Given the description of an element on the screen output the (x, y) to click on. 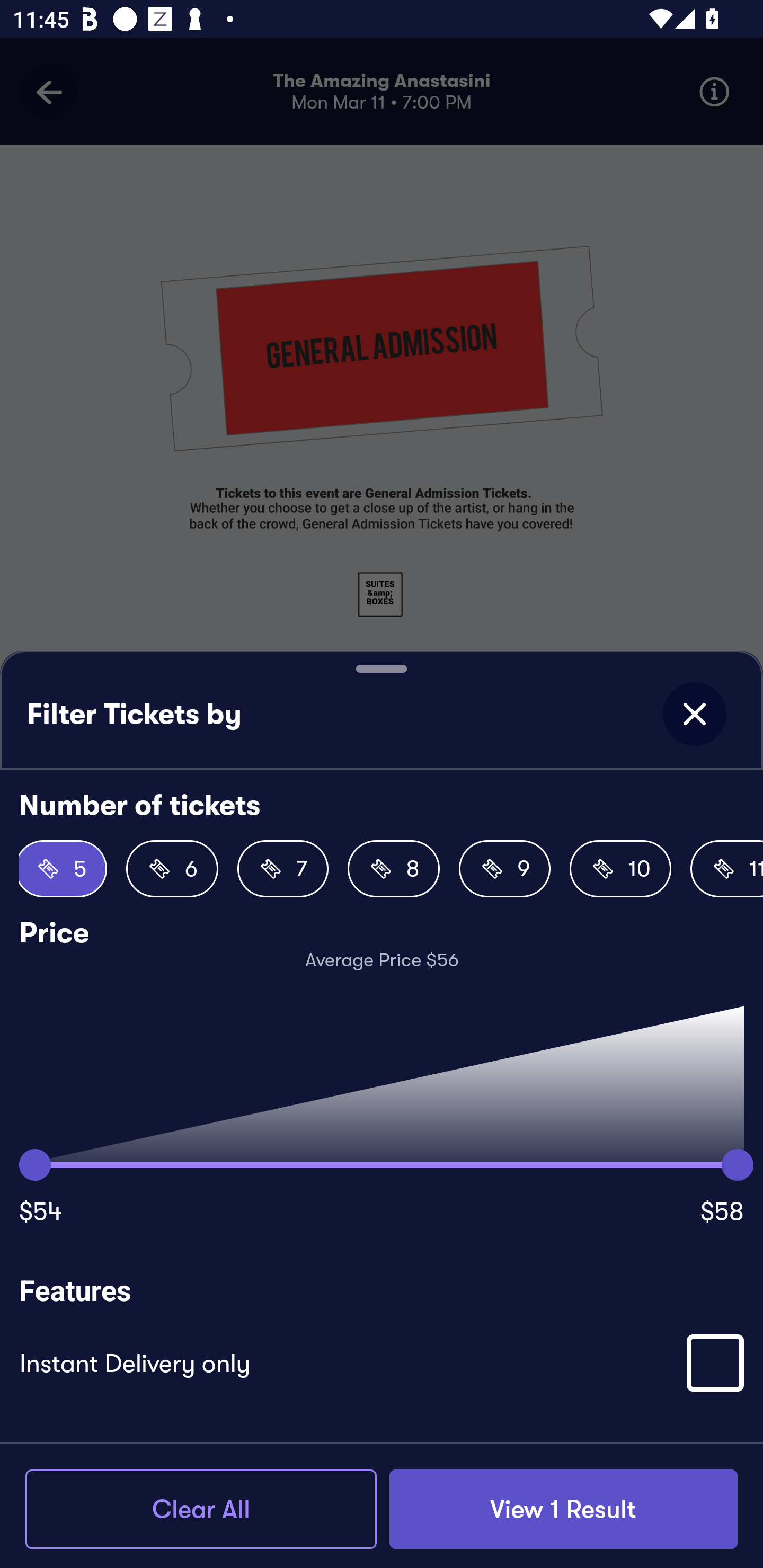
close (694, 714)
5 (62, 868)
6 (171, 868)
7 (282, 868)
8 (393, 868)
9 (504, 868)
10 (620, 868)
11 (726, 868)
Clear All (200, 1509)
View 1 Result (563, 1509)
